Given the description of an element on the screen output the (x, y) to click on. 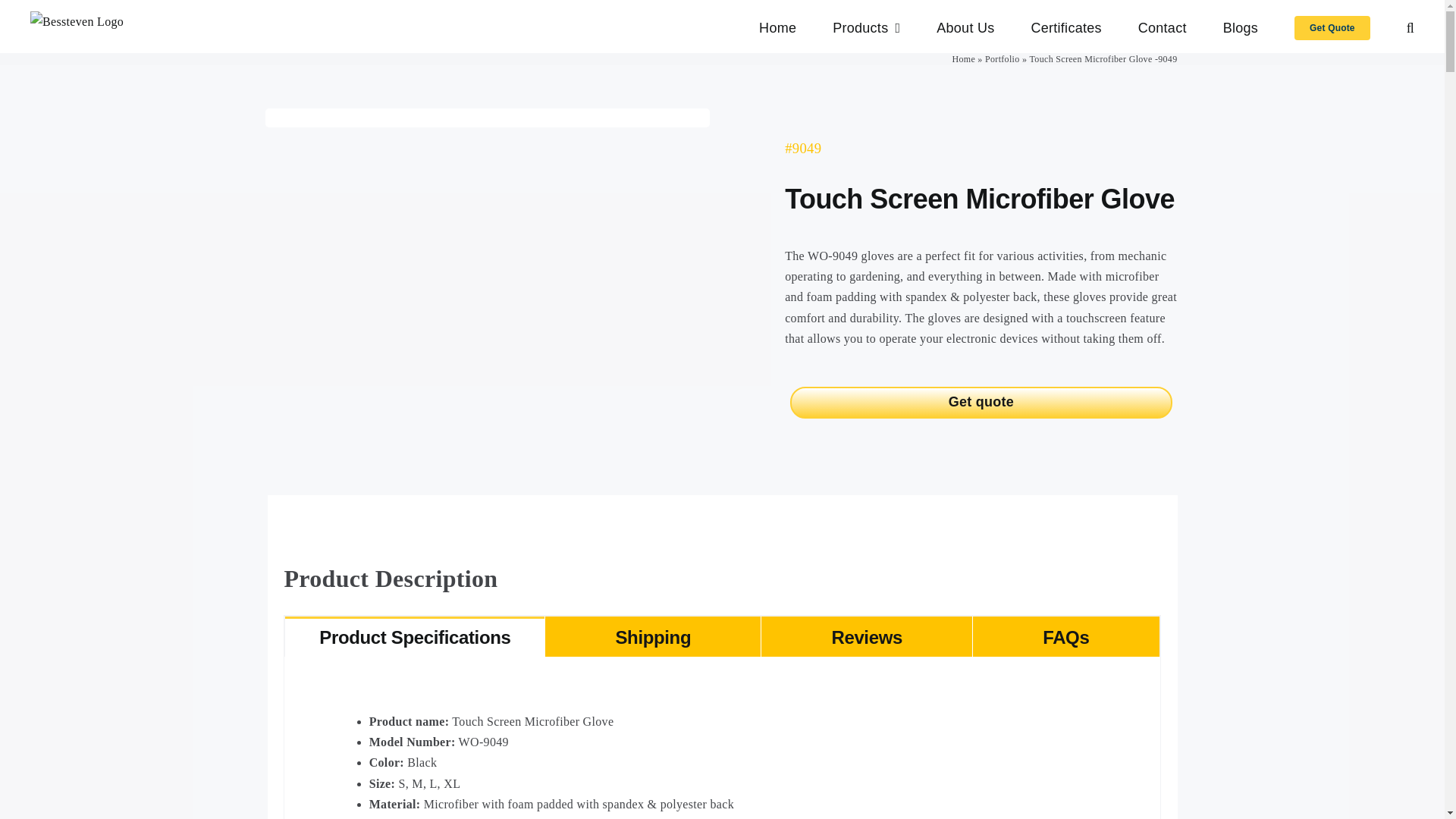
Search (1409, 26)
Certificates (1065, 26)
Get Quote (1332, 26)
Products (865, 26)
Contact (1162, 26)
Blogs (1240, 26)
Home (777, 26)
About Us (965, 26)
